Given the description of an element on the screen output the (x, y) to click on. 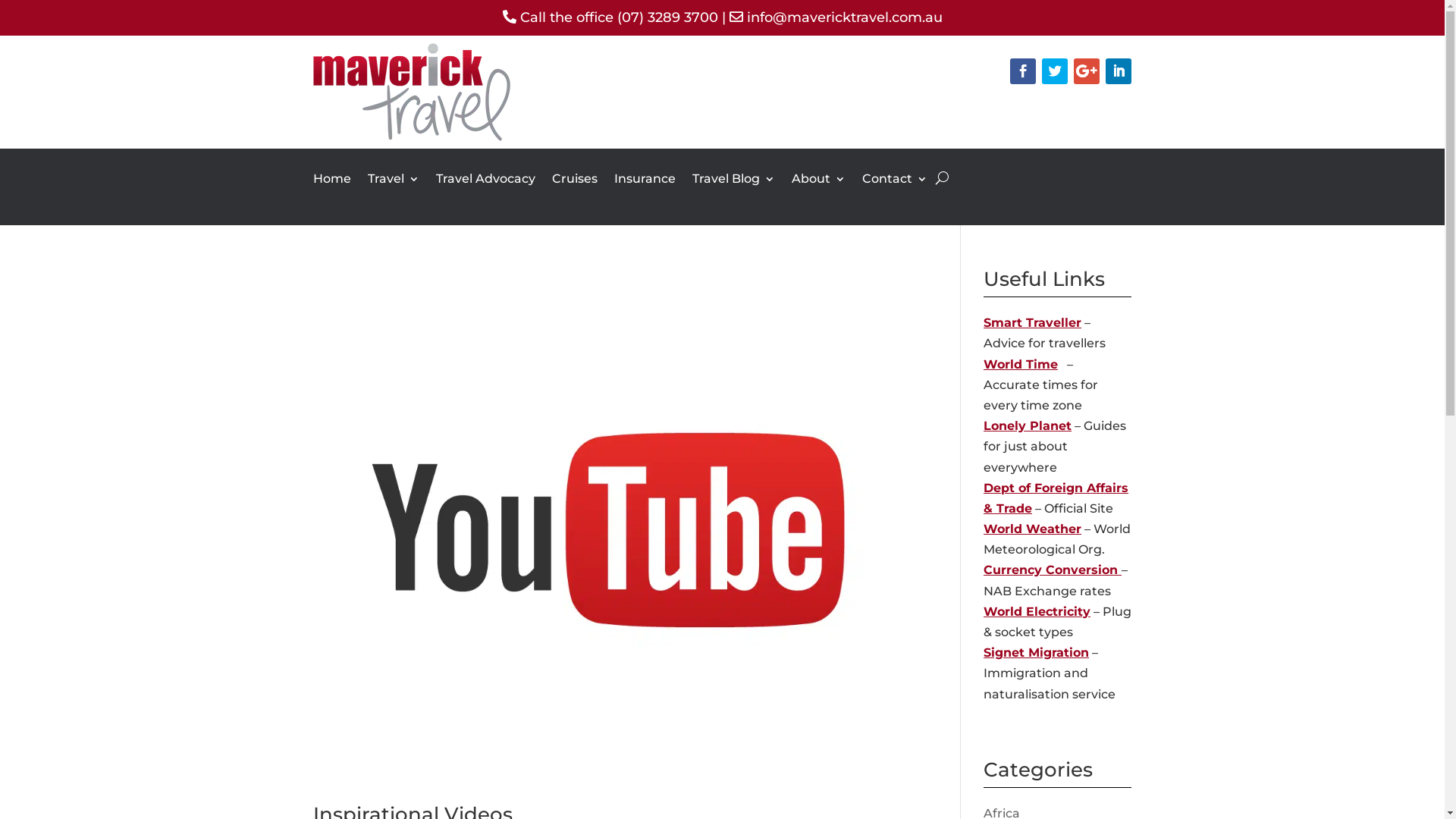
Signet Migration Element type: text (1035, 652)
Contact Element type: text (893, 189)
World Electricity Element type: text (1036, 611)
info@mavericktravel.com.au Element type: text (843, 17)
Follow on Twitter Element type: hover (1054, 71)
Follow on LinkedIn Element type: hover (1118, 71)
Follow on Facebook Element type: hover (1022, 71)
Insurance Element type: text (644, 189)
Currency Conversion  Element type: text (1052, 569)
Dept of Foreign Affairs & Trade Element type: text (1055, 497)
Travel Advocacy Element type: text (484, 189)
Maverick Travel Element type: hover (410, 136)
World Weather Element type: text (1032, 528)
Home Element type: text (331, 189)
About Element type: text (818, 189)
Follow on Google+ Element type: hover (1086, 71)
Travel Element type: text (392, 189)
Smart Traveller Element type: text (1032, 322)
World Time Element type: text (1020, 364)
Travel Blog Element type: text (732, 189)
Cruises Element type: text (574, 189)
Lonely Planet Element type: text (1027, 425)
(07) 3289 3700 Element type: text (667, 17)
